Given the description of an element on the screen output the (x, y) to click on. 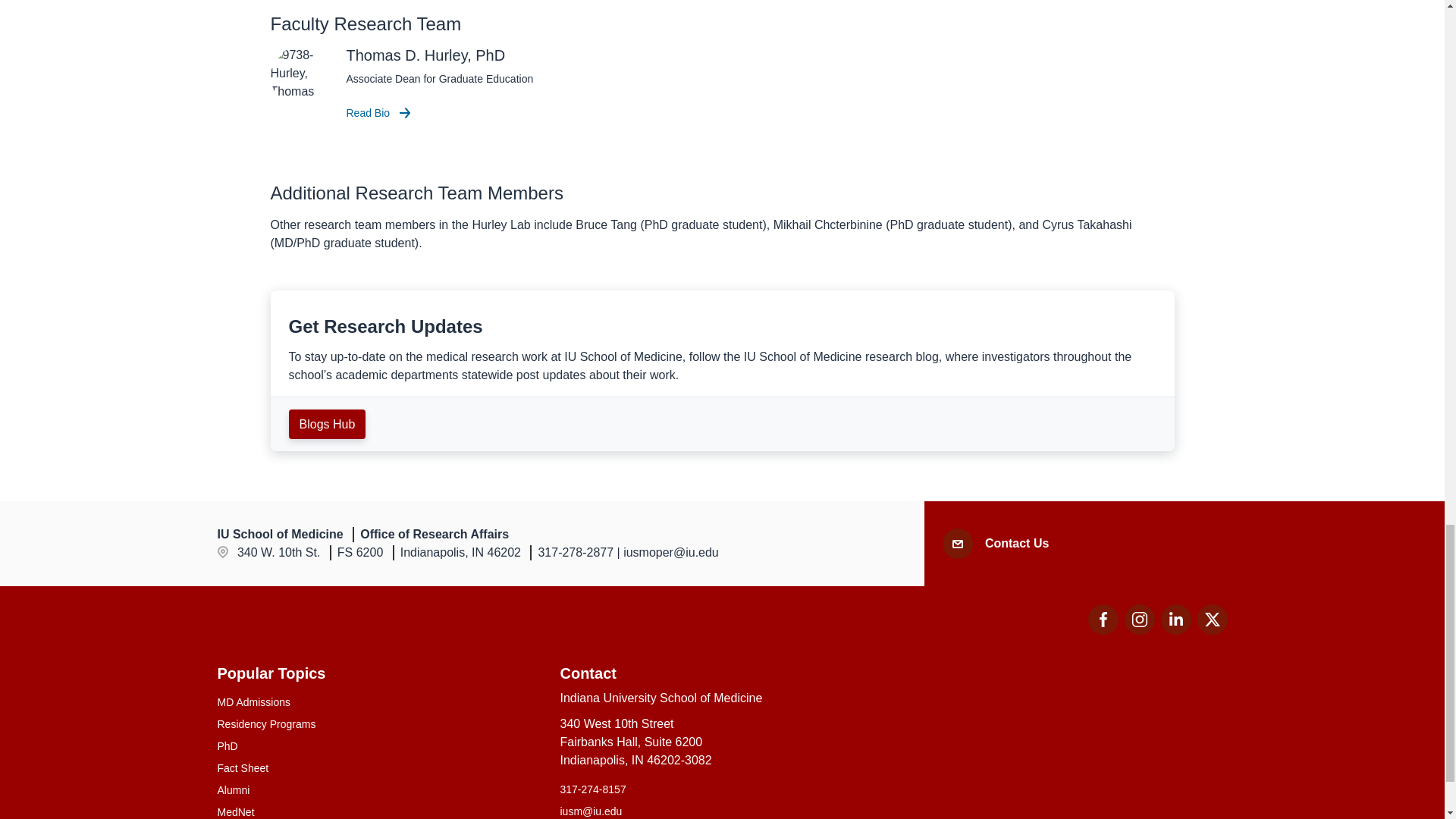
Contact Us (1016, 543)
Facebook (1102, 619)
MedNet (378, 811)
Instagram (1139, 619)
317-274-8157 (721, 789)
Twitter (1211, 619)
Residency Programs (378, 724)
Alumni (1102, 630)
Read Bio (378, 790)
